Given the description of an element on the screen output the (x, y) to click on. 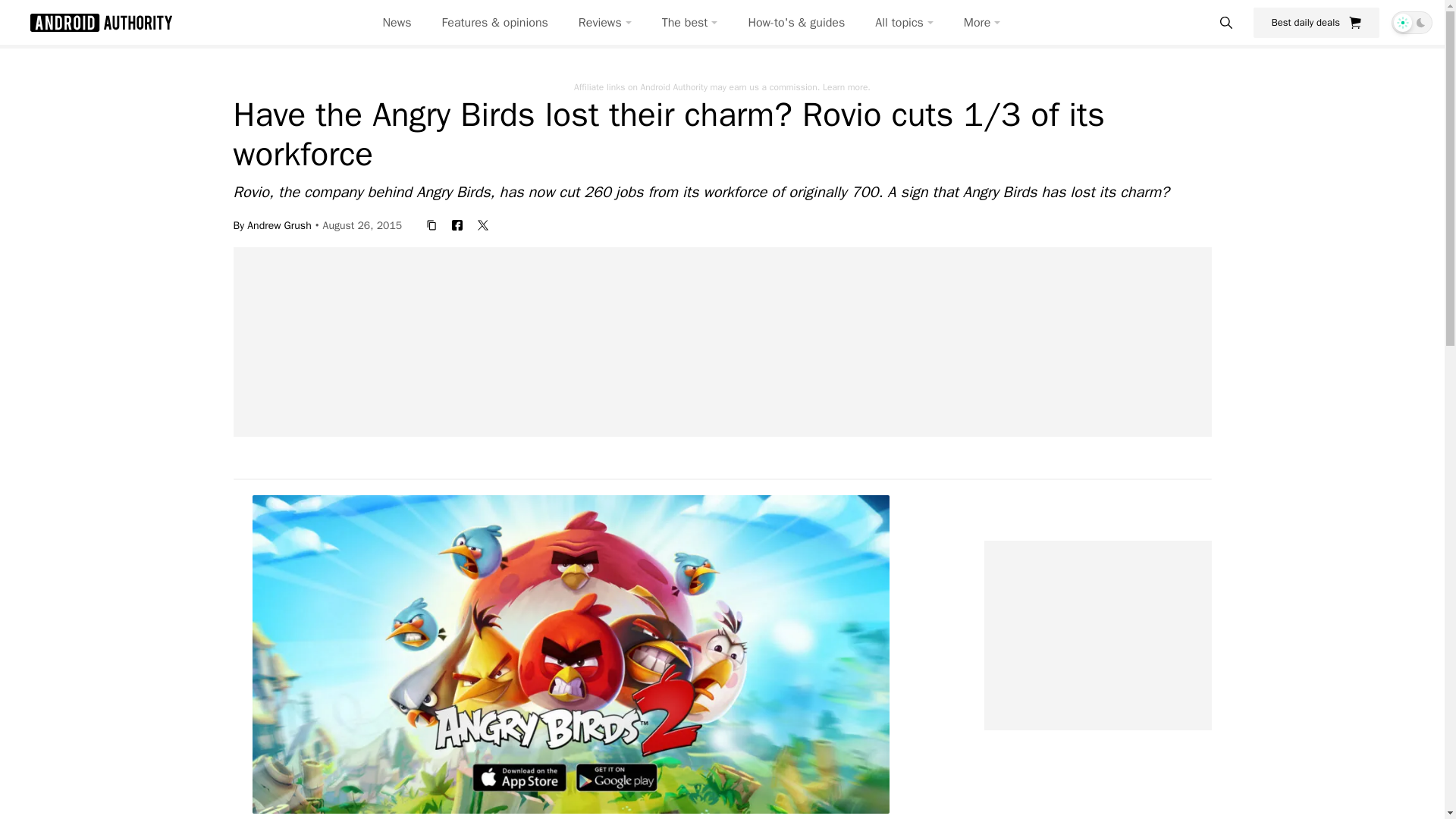
Andrew Grush (279, 224)
All topics (904, 22)
twitter (483, 225)
The best (689, 22)
Best daily deals (1315, 22)
facebook (457, 225)
Learn more. (846, 86)
Reviews (604, 22)
